Given the description of an element on the screen output the (x, y) to click on. 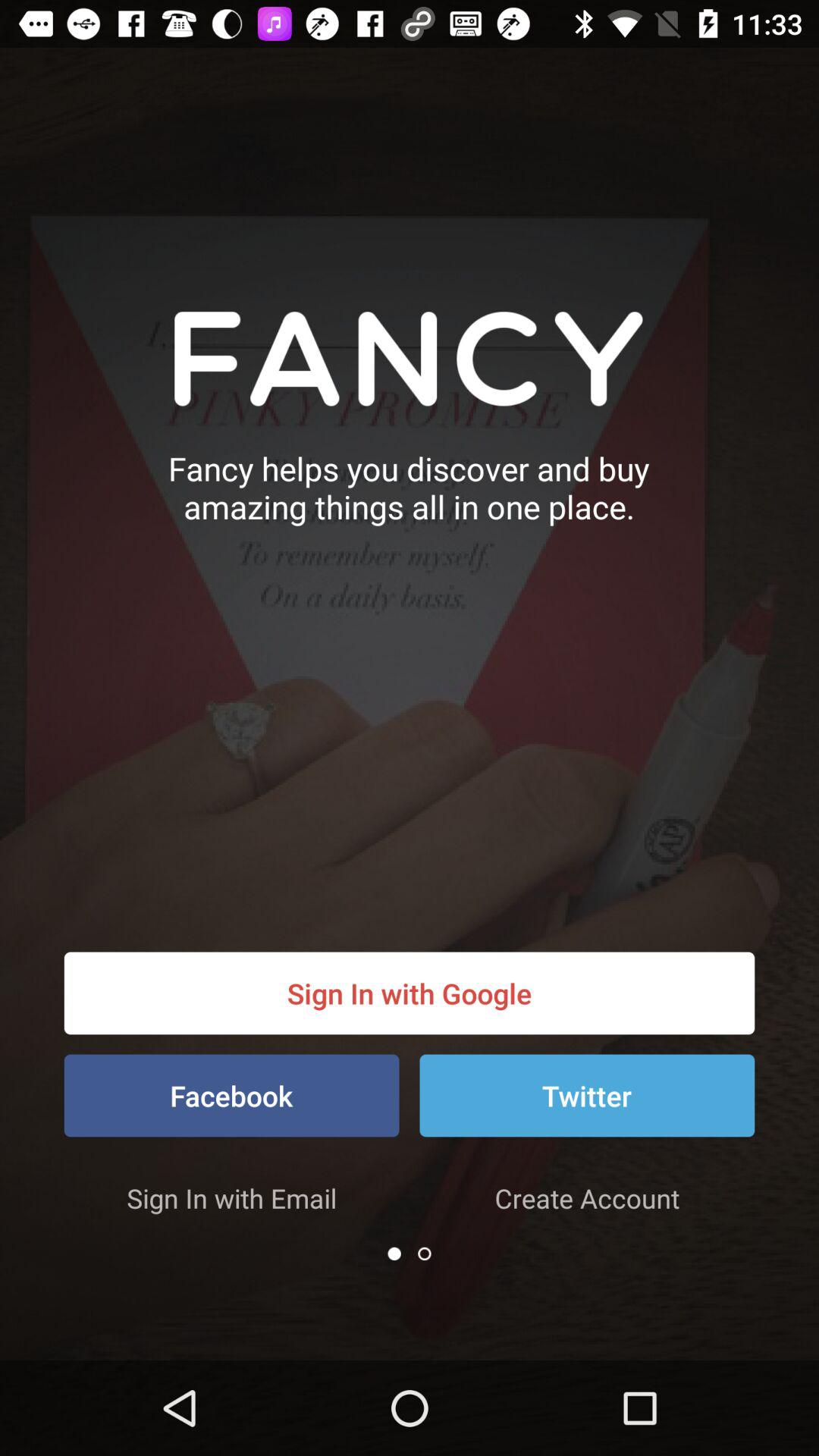
tap the item above create account (586, 1095)
